Given the description of an element on the screen output the (x, y) to click on. 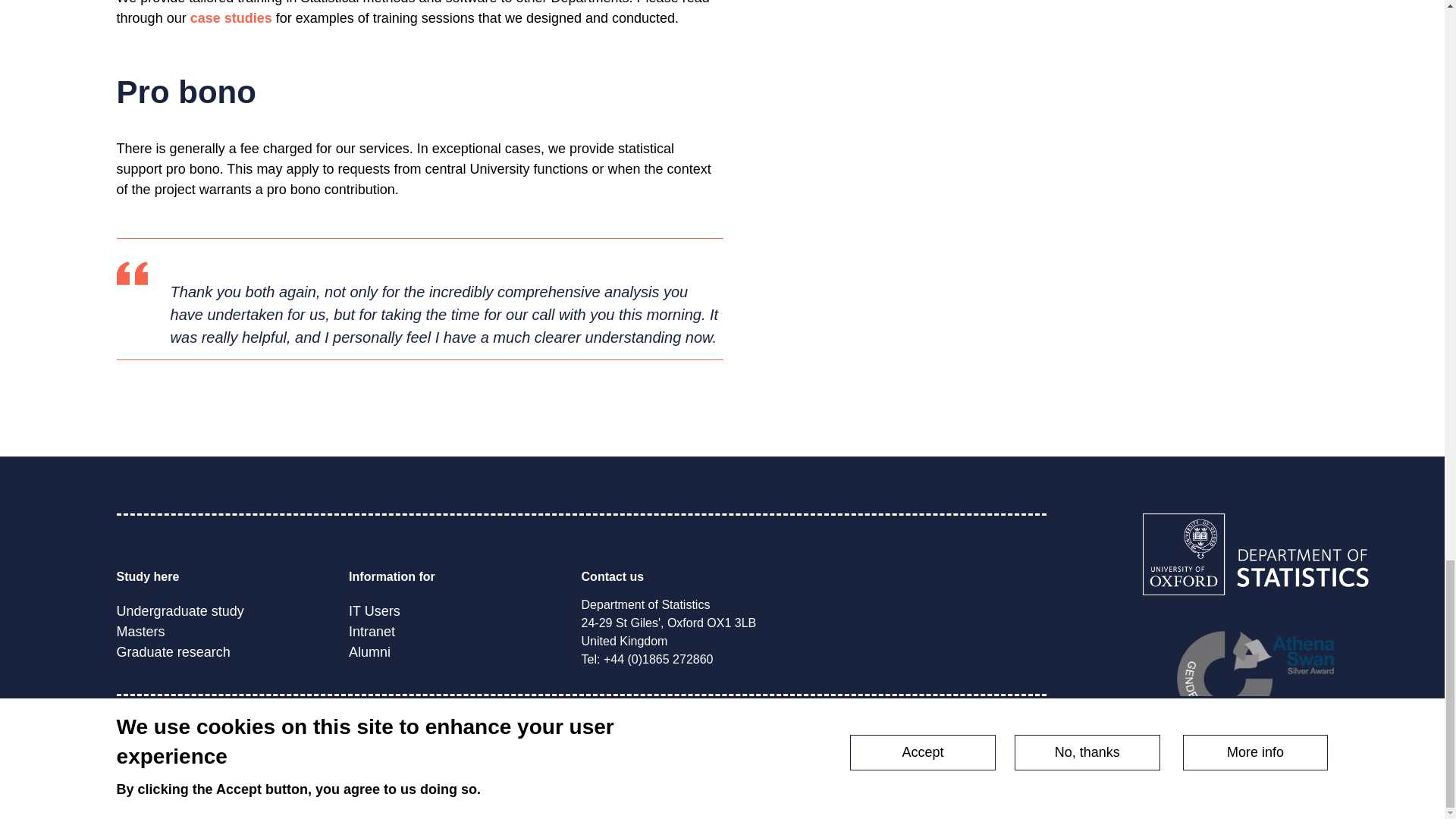
Privacy policy (510, 757)
Masters (140, 631)
Accessibility Statement (637, 757)
Intranet (371, 631)
Undergraduate study (180, 611)
case studies (231, 17)
IT Users (374, 611)
Alumni (369, 652)
Graduate research (173, 652)
